Given the description of an element on the screen output the (x, y) to click on. 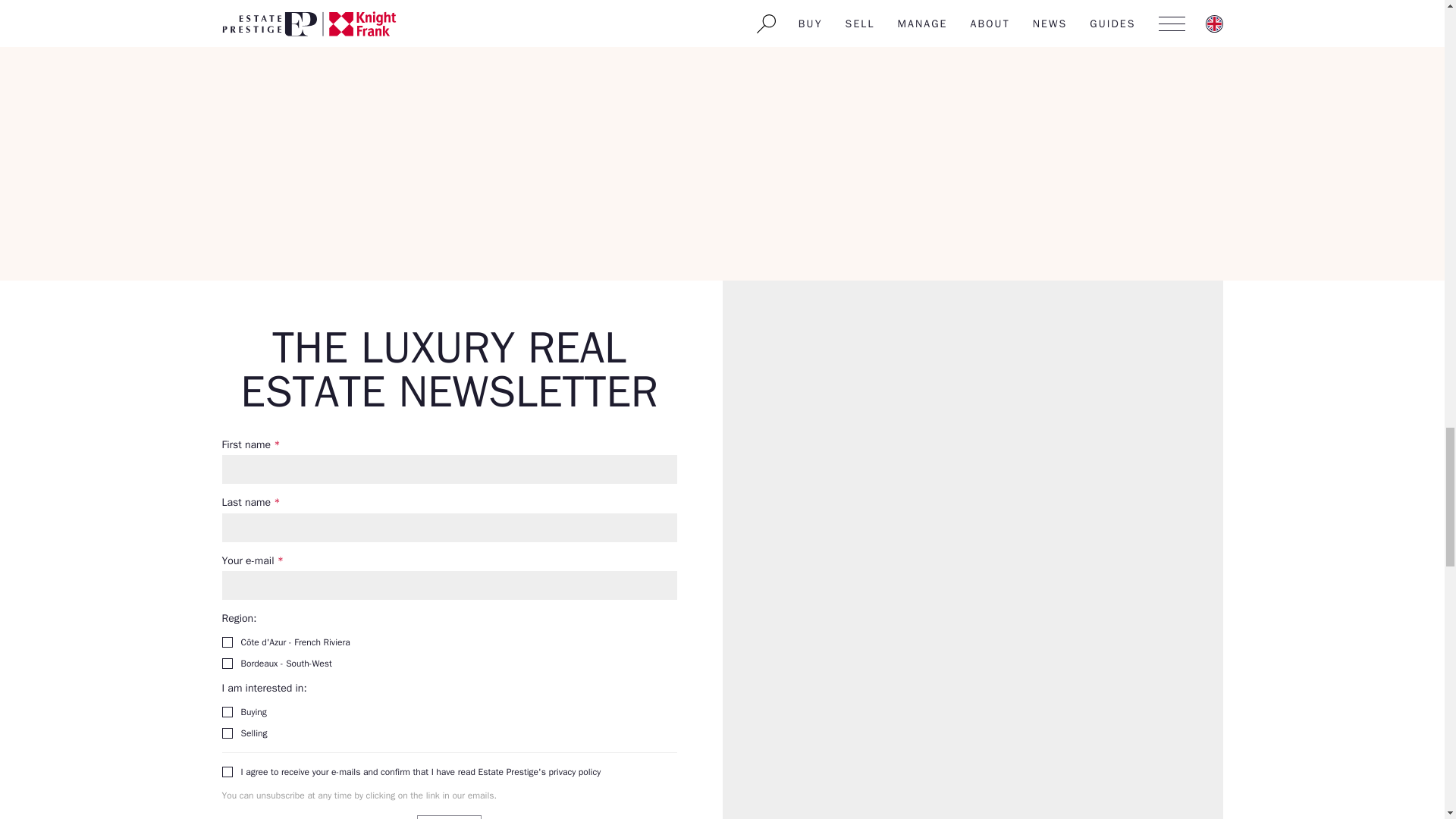
Sign up (448, 816)
